Given the description of an element on the screen output the (x, y) to click on. 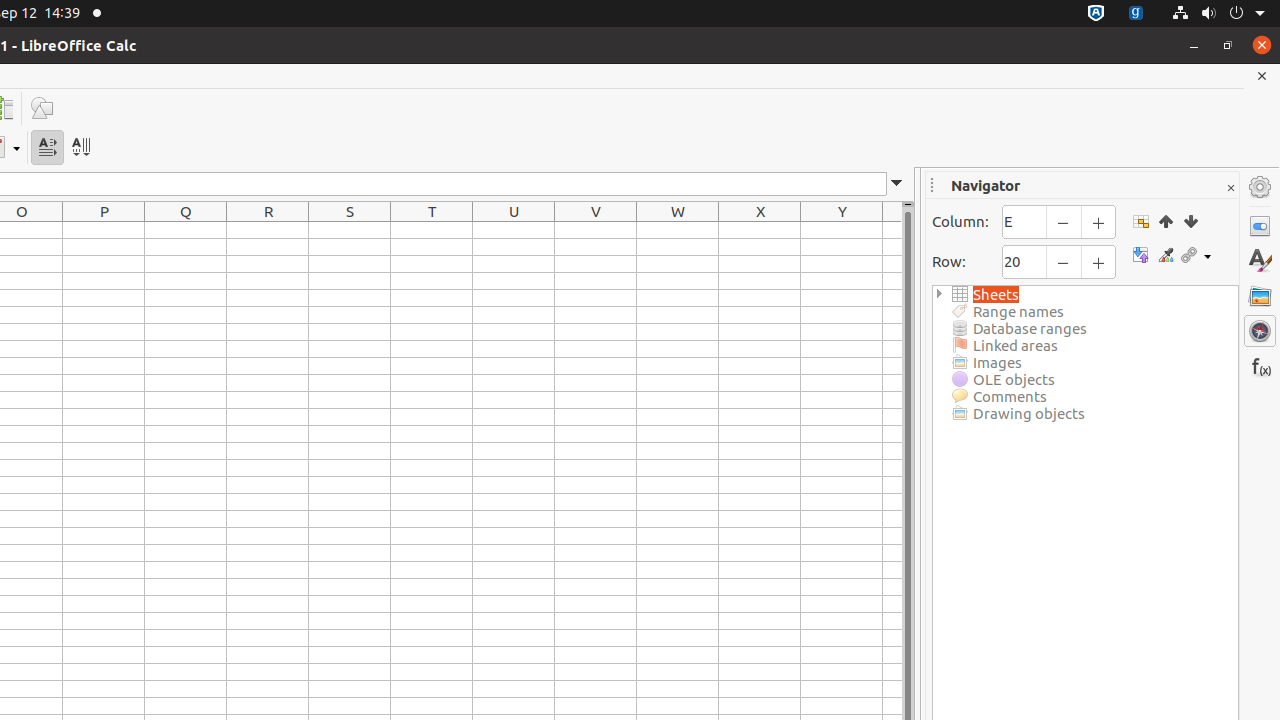
U1 Element type: table-cell (514, 230)
Data Range Element type: push-button (1140, 221)
System Element type: menu (1218, 13)
Drag Mode Element type: push-button (1196, 255)
Start Element type: push-button (1165, 221)
